Given the description of an element on the screen output the (x, y) to click on. 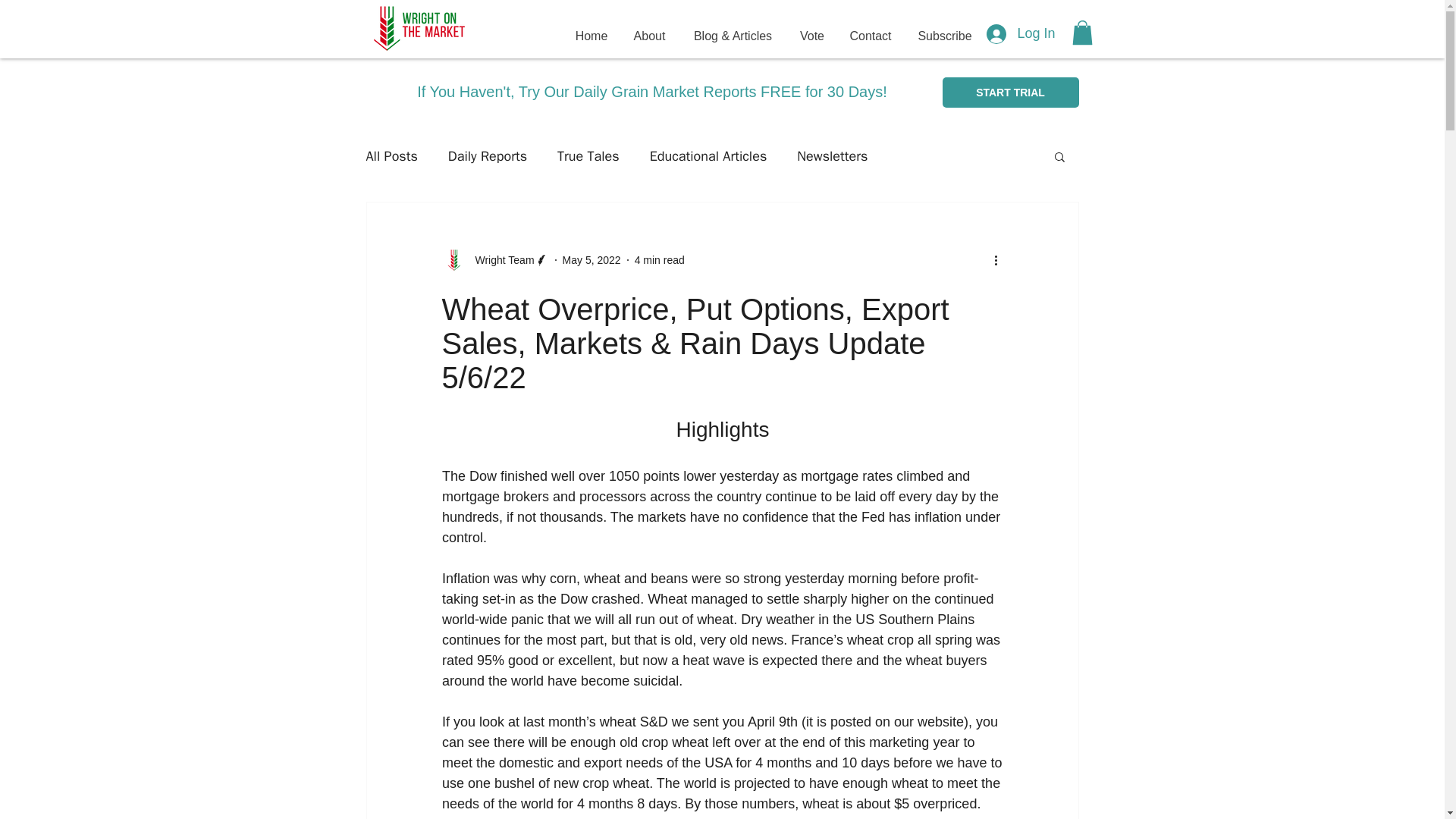
Log In (1020, 33)
Educational Articles (708, 156)
Newsletters (831, 156)
4 min read (659, 259)
About (649, 36)
Contact (870, 36)
Wright Team (499, 259)
All Posts (390, 156)
Home (591, 36)
Subscribe (944, 36)
